Given the description of an element on the screen output the (x, y) to click on. 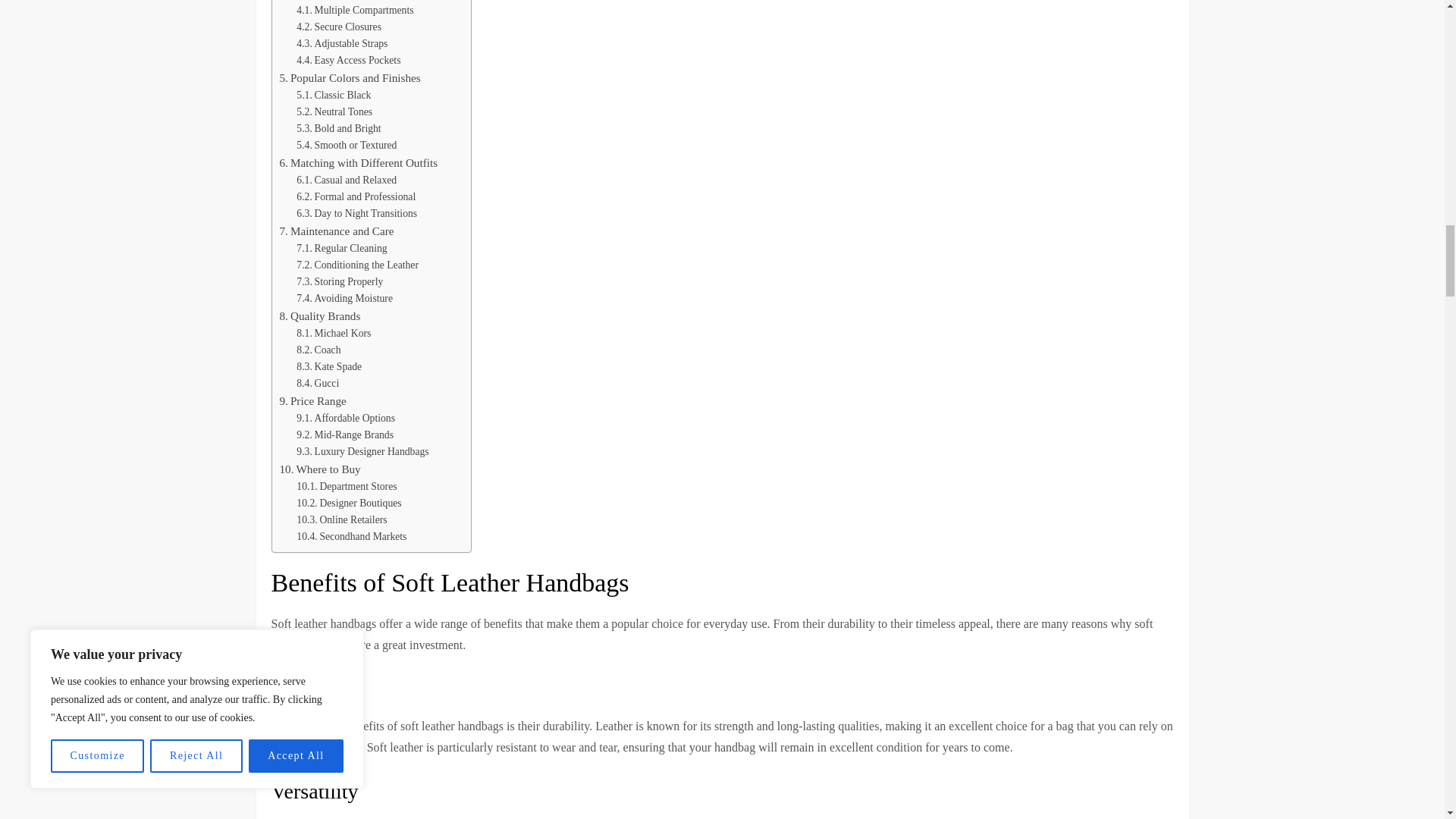
Secure Closures (339, 27)
Practical Features (325, 1)
Multiple Compartments (355, 10)
